Given the description of an element on the screen output the (x, y) to click on. 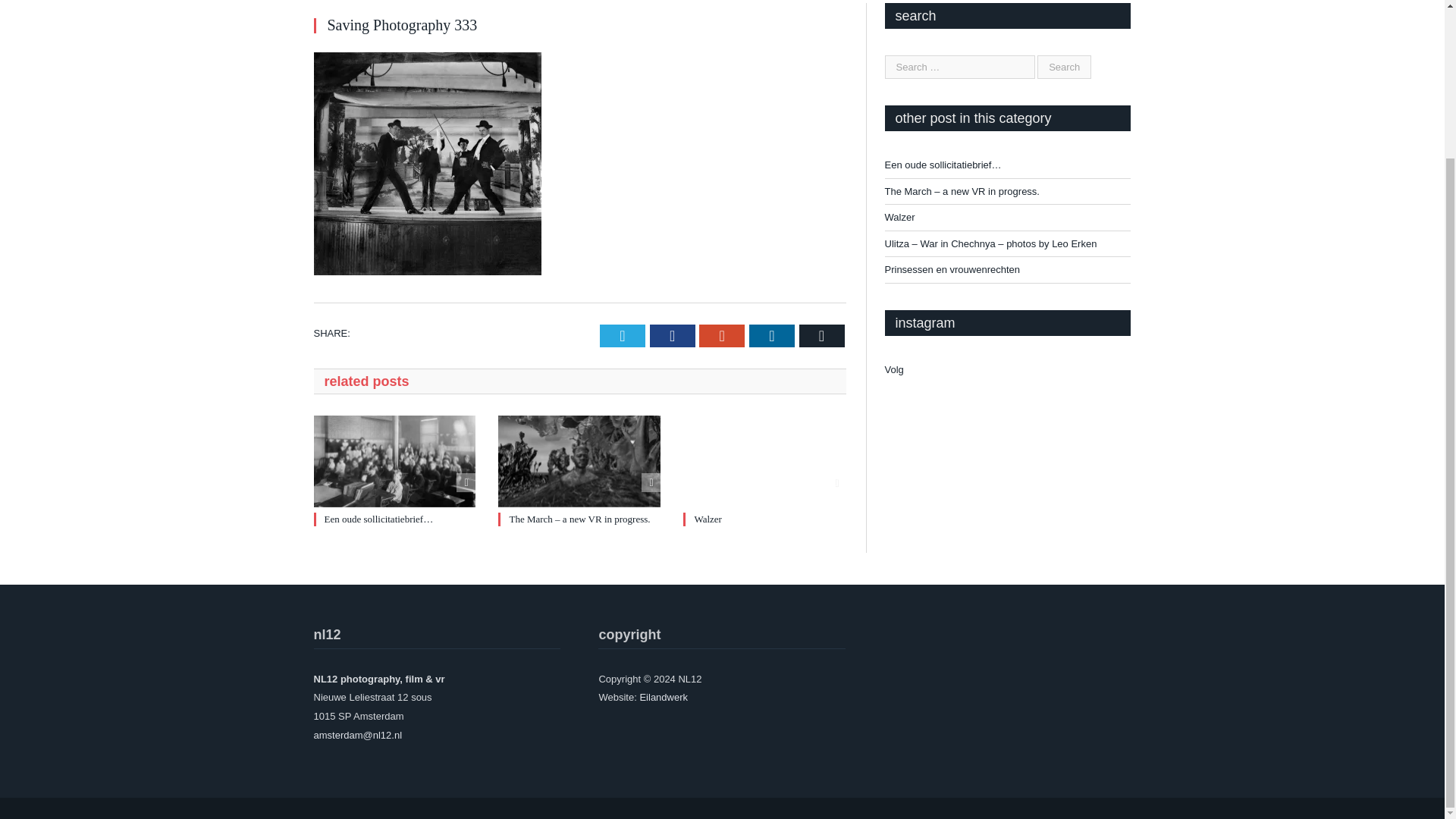
Search (1063, 66)
Walzer (707, 518)
Twitter (622, 335)
Search (1063, 66)
Email (821, 335)
Volg (892, 369)
Walzer (707, 518)
Eilandwerk (663, 696)
Search (1063, 66)
Prinsessen en vrouwenrechten (951, 269)
